Given the description of an element on the screen output the (x, y) to click on. 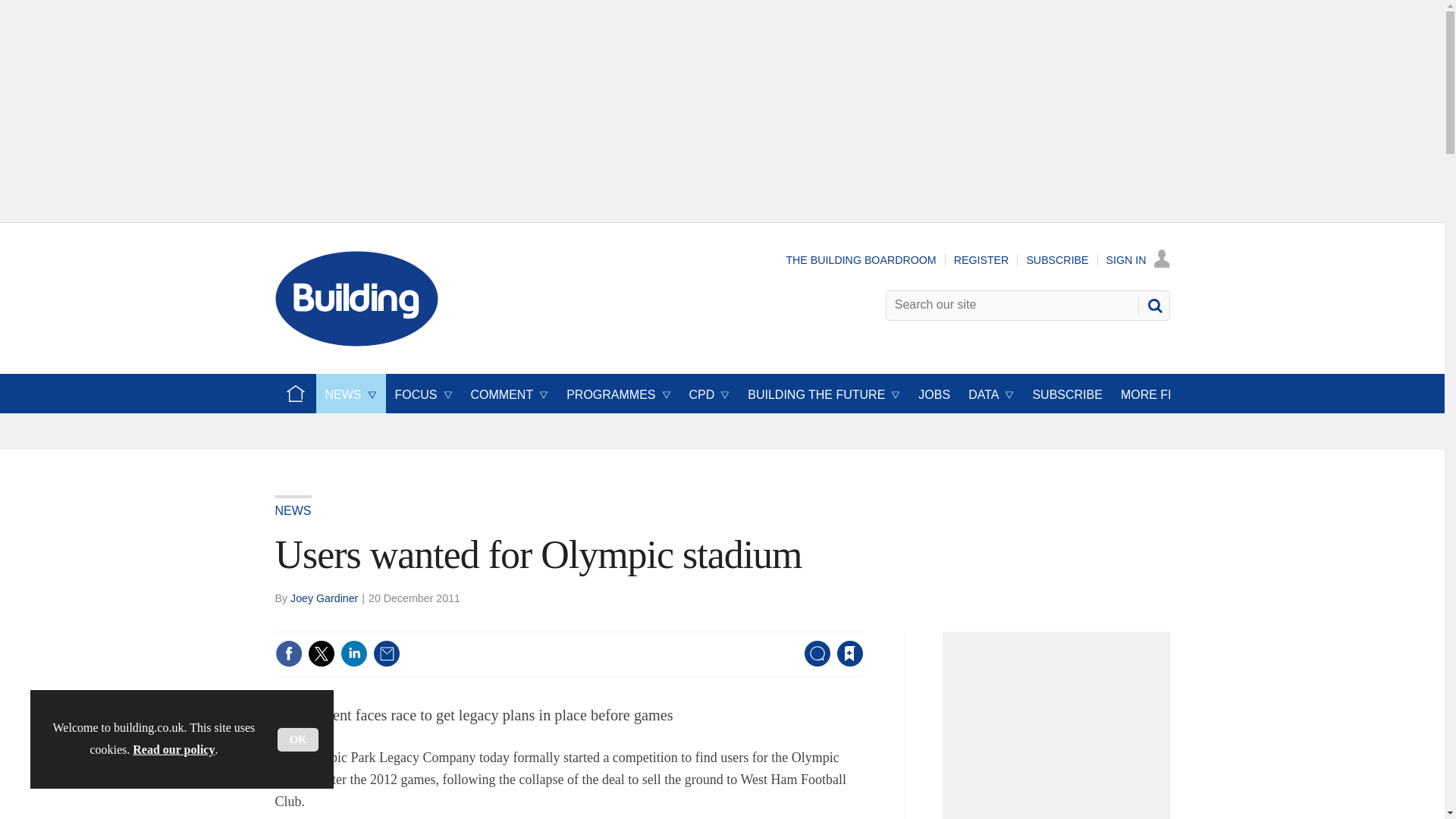
Insert Logo text (356, 341)
Email this article (386, 653)
REGISTER (981, 259)
SUBSCRIBE (1056, 259)
Share this on Twitter (320, 653)
SEARCH (1153, 305)
SIGN IN (1138, 259)
OK (298, 739)
Share this on Linked in (352, 653)
